Given the description of an element on the screen output the (x, y) to click on. 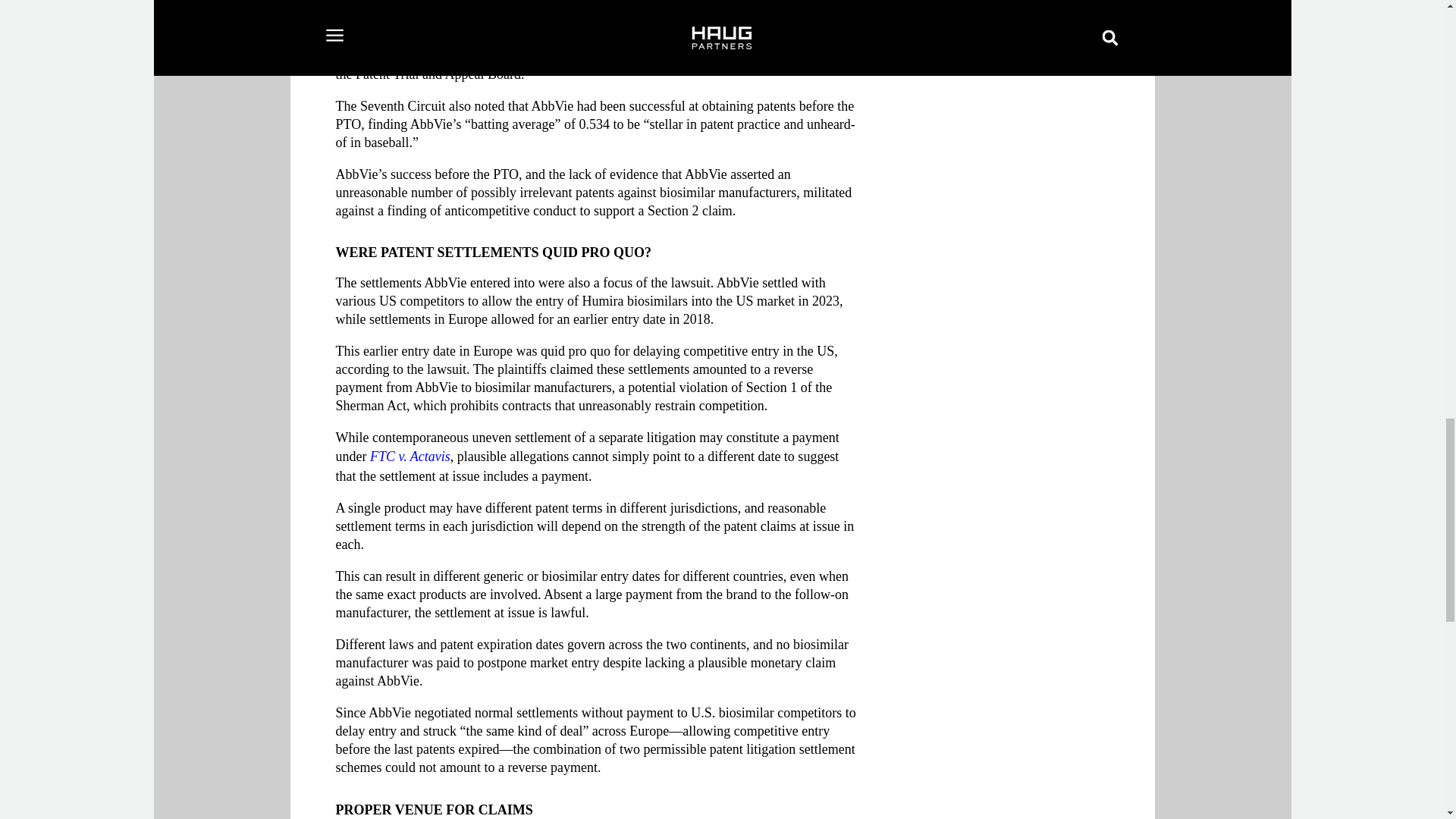
FTC v. Actavis (409, 456)
